Given the description of an element on the screen output the (x, y) to click on. 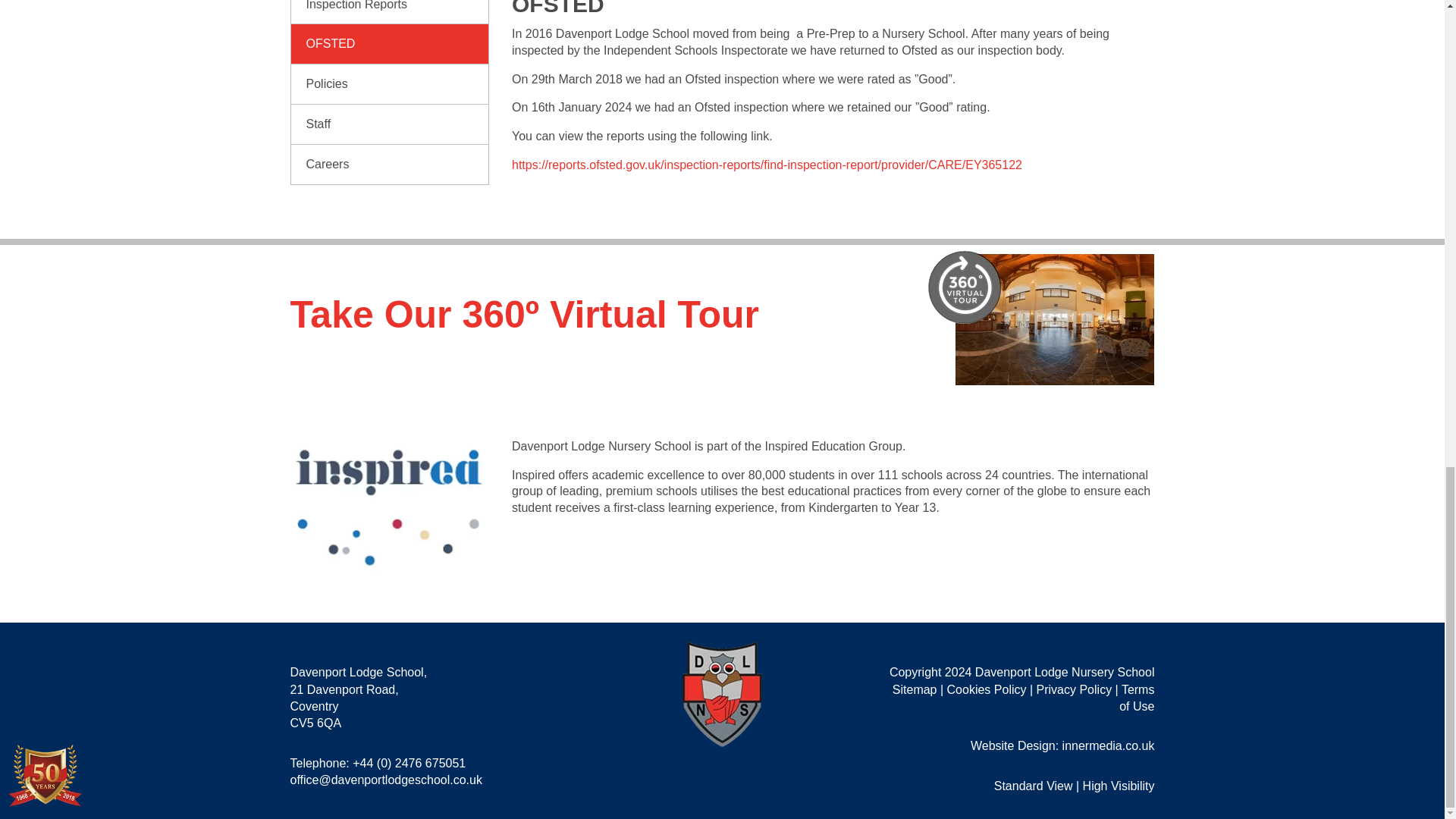
Switch to Standard Visibility (1033, 785)
Switch to High Visibility (1118, 785)
Staff (390, 124)
OFSTED (390, 43)
Careers (390, 164)
Inspection Reports (390, 12)
Policies (390, 84)
